Given the description of an element on the screen output the (x, y) to click on. 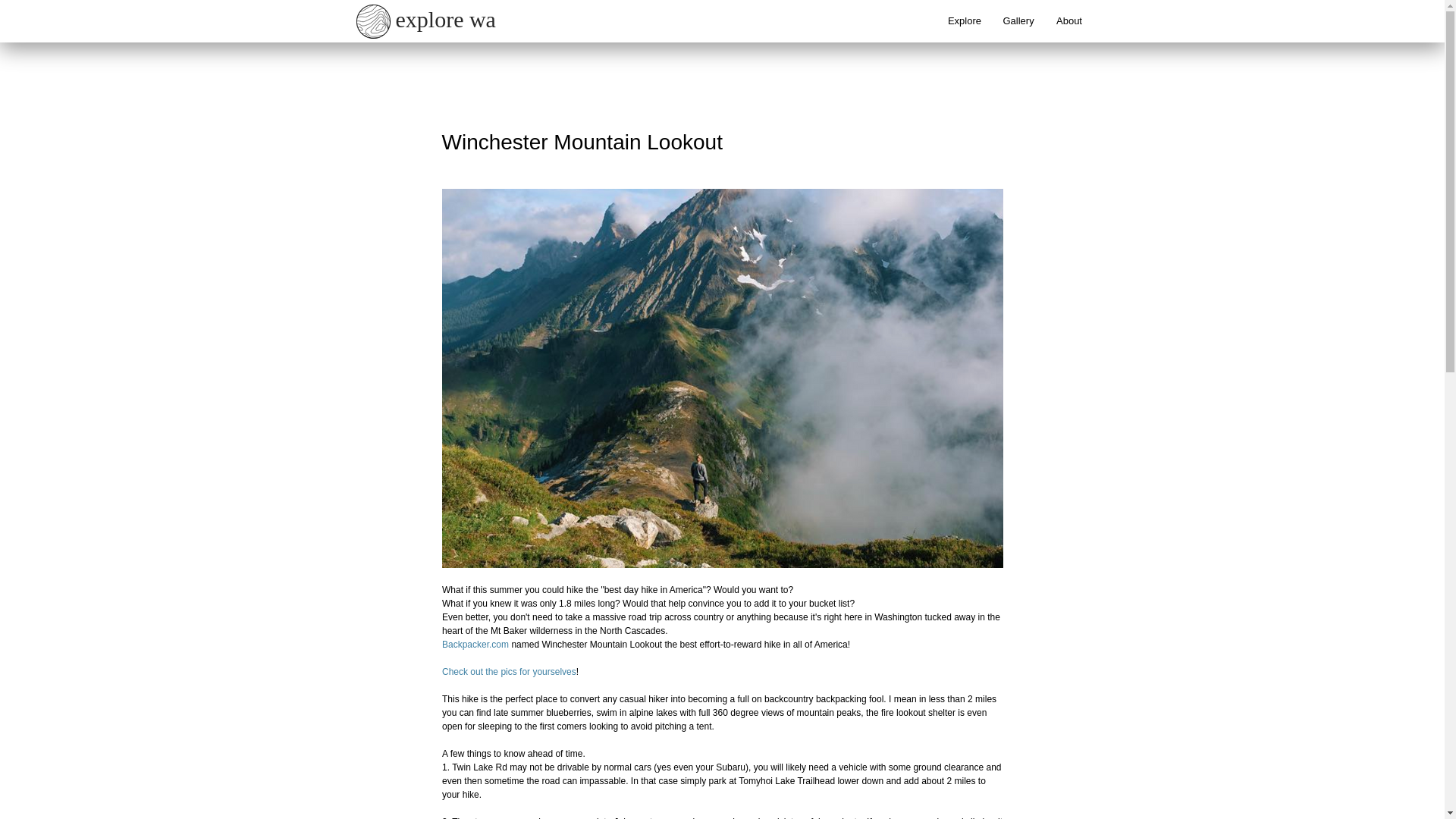
Explore (964, 20)
Gallery (1017, 20)
Check out the pics for yourselves (508, 671)
About (1069, 20)
Backpacker.com (474, 644)
